Given the description of an element on the screen output the (x, y) to click on. 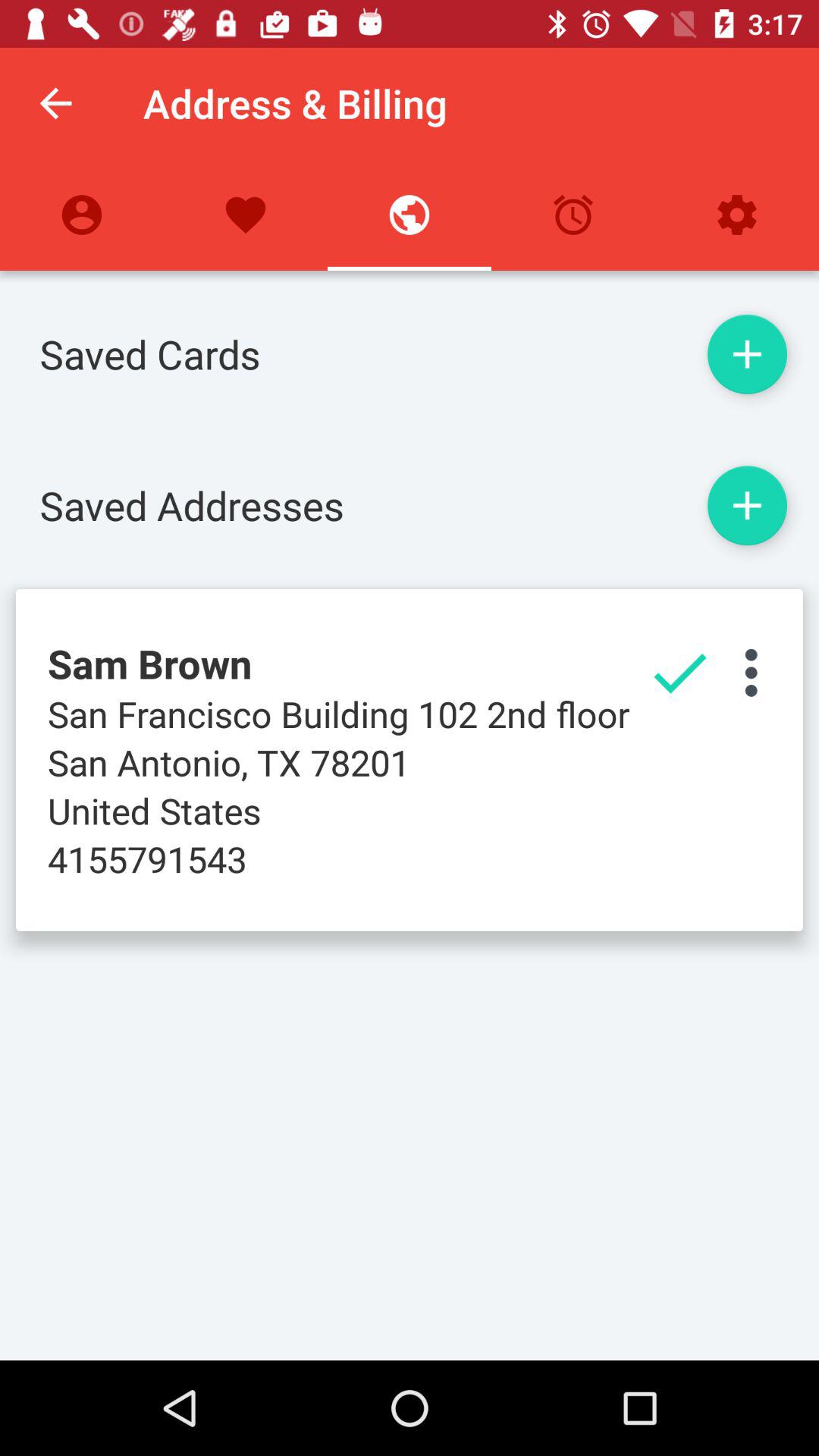
add new card (747, 353)
